Given the description of an element on the screen output the (x, y) to click on. 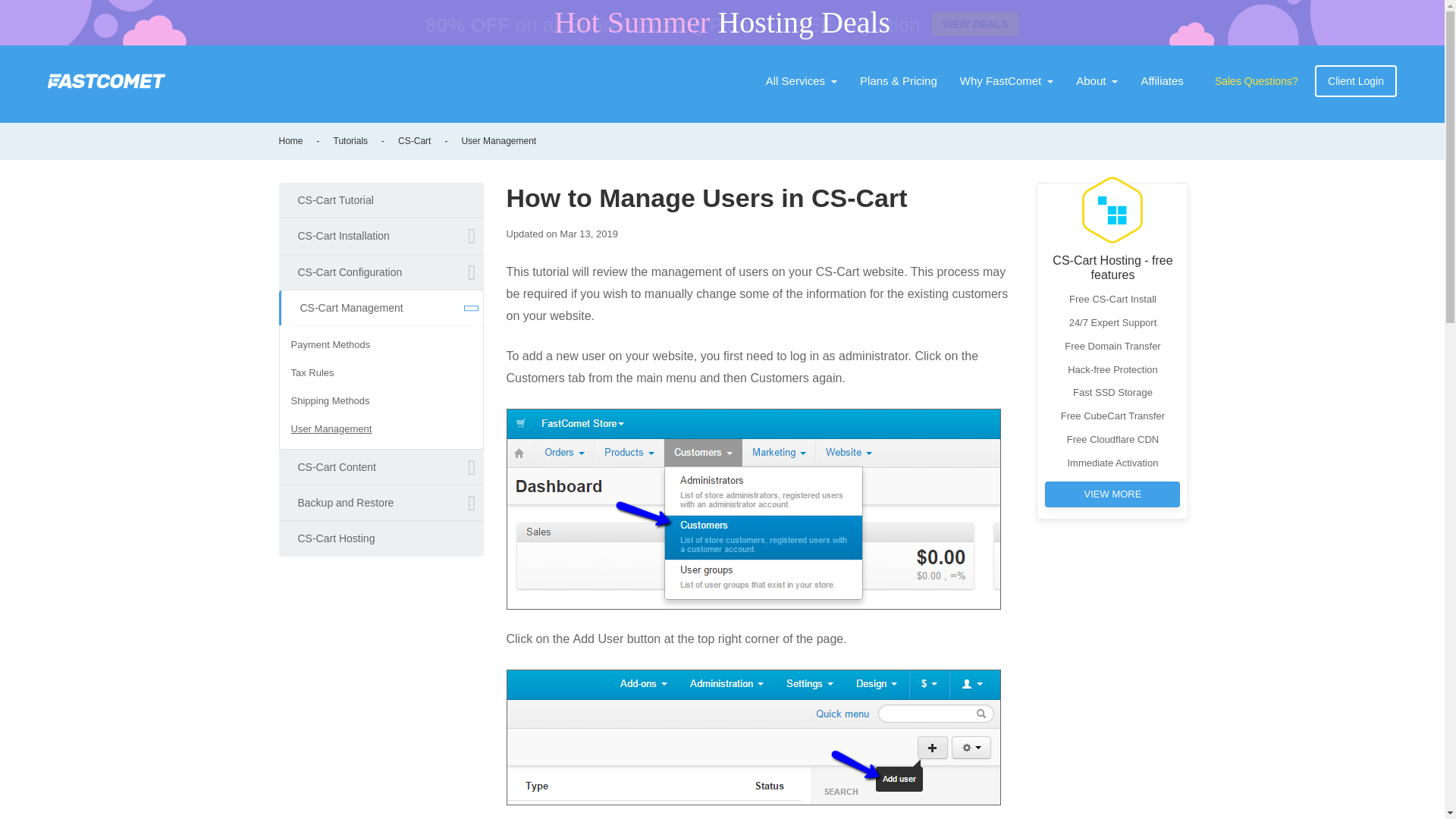
All Services (801, 81)
Why FastComet (1007, 81)
fastcomet-logo-white (106, 81)
Affiliates (1161, 81)
About (1096, 81)
fastcomet-logo-white (106, 80)
